Given the description of an element on the screen output the (x, y) to click on. 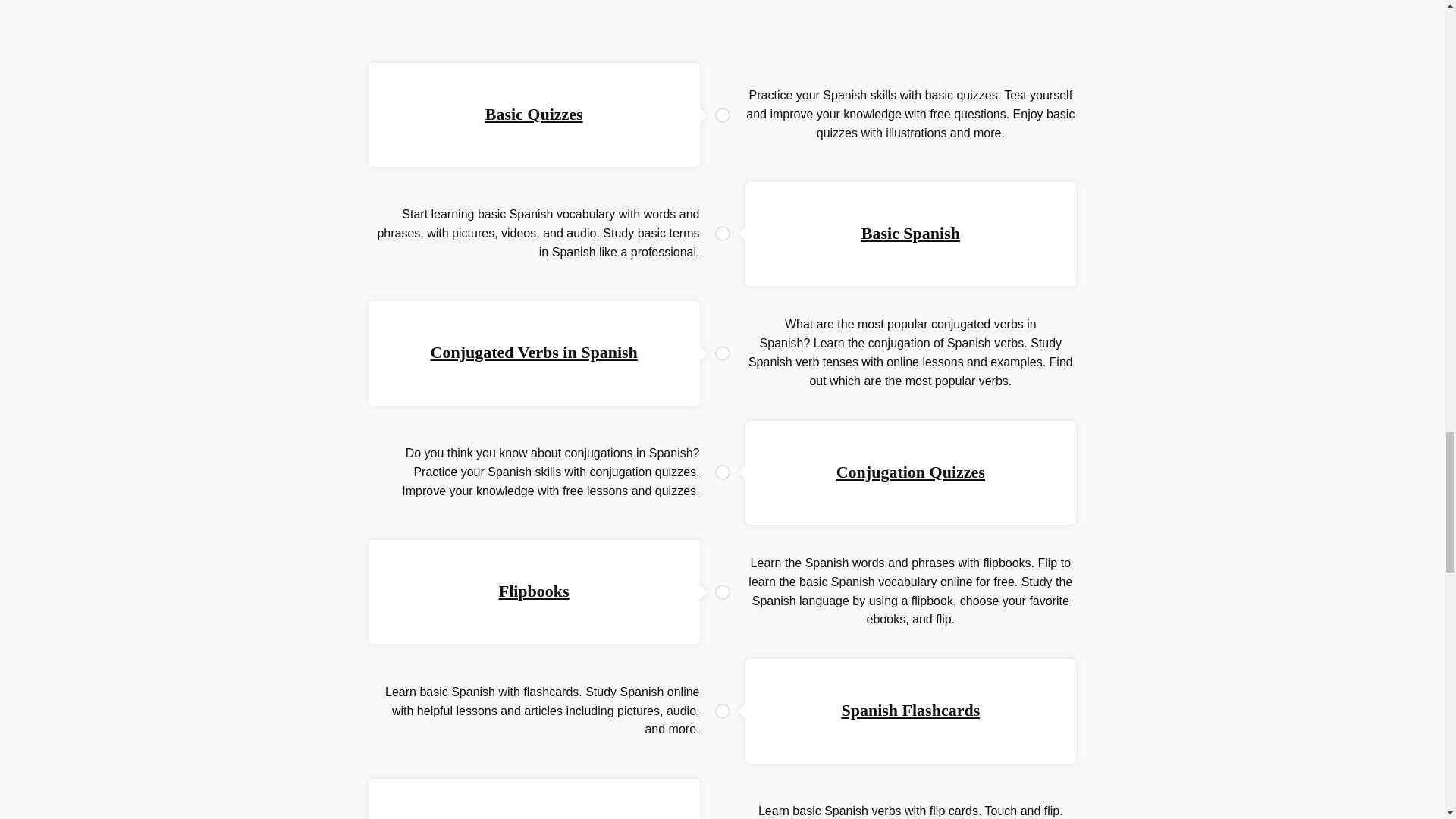
Conjugated Verbs in Spanish (533, 352)
Basic Spanish (910, 232)
Flipbooks (534, 590)
Conjugation Quizzes (910, 471)
Basic Quizzes (533, 113)
